Given the description of an element on the screen output the (x, y) to click on. 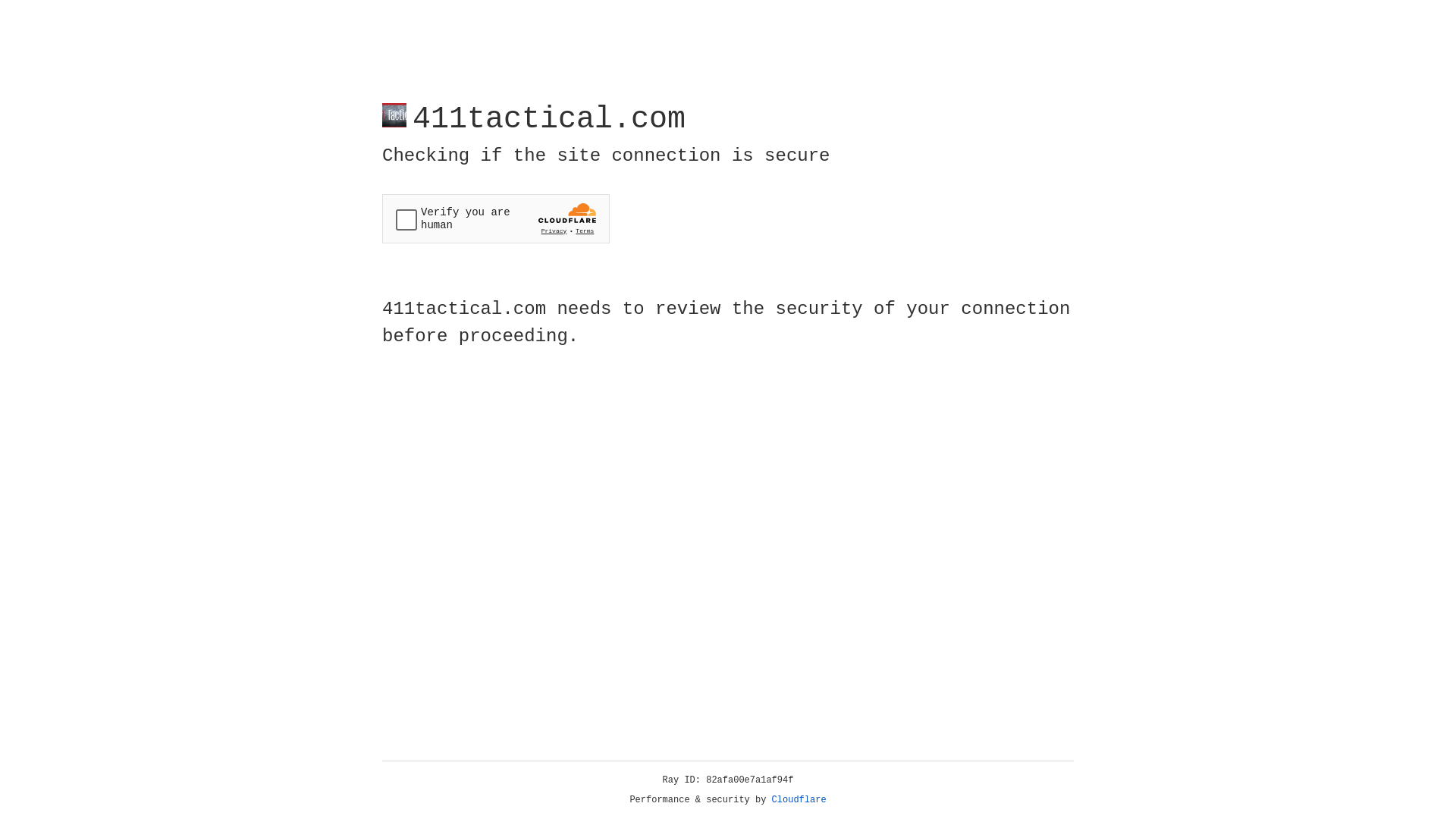
Widget containing a Cloudflare security challenge Element type: hover (495, 218)
Cloudflare Element type: text (798, 799)
